Given the description of an element on the screen output the (x, y) to click on. 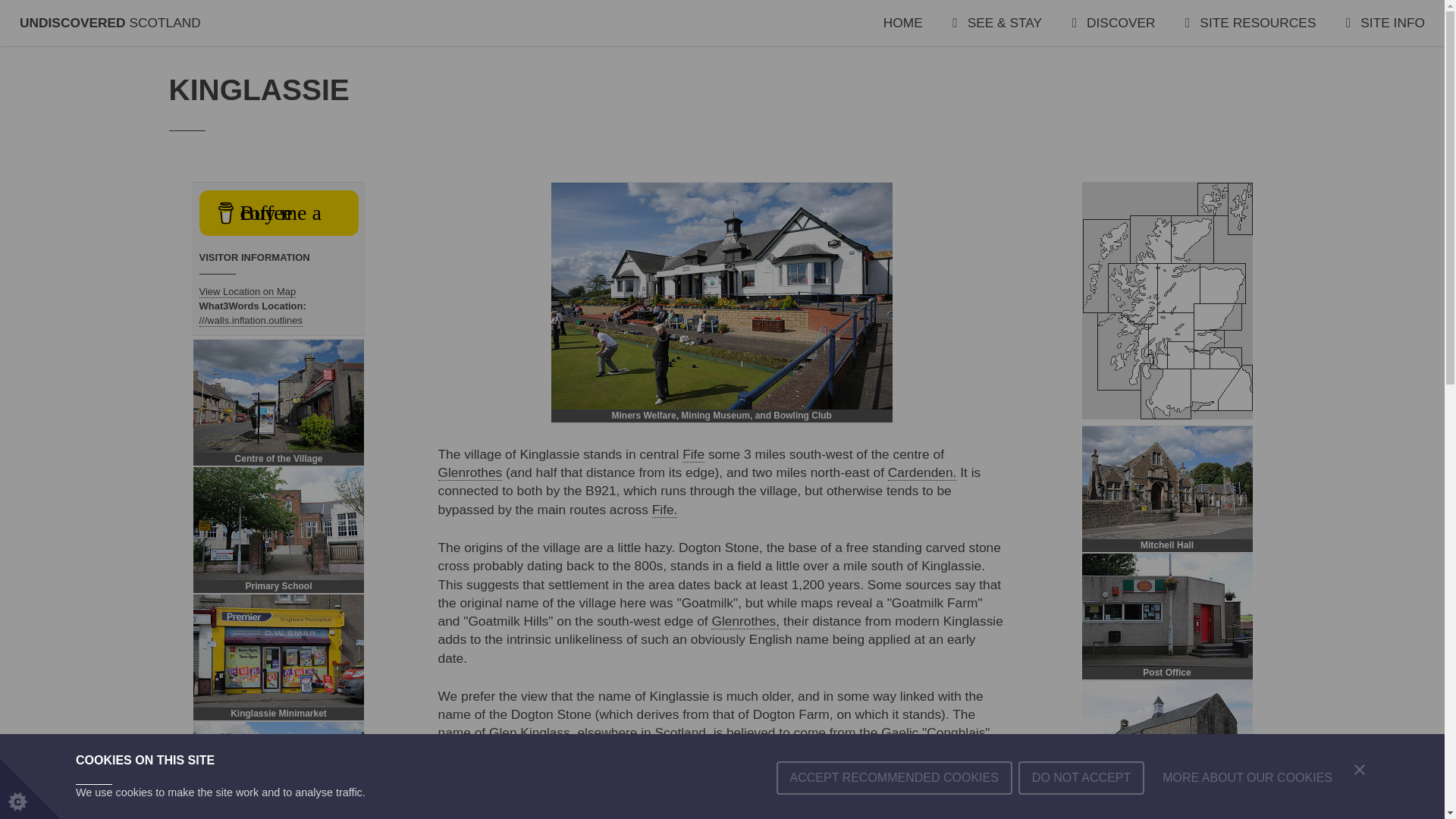
UNDISCOVERED SCOTLAND (110, 22)
SITE RESOURCES (1250, 22)
DISCOVER (1113, 22)
HOME (903, 22)
MORE ABOUT OUR COOKIES (1246, 815)
